Given the description of an element on the screen output the (x, y) to click on. 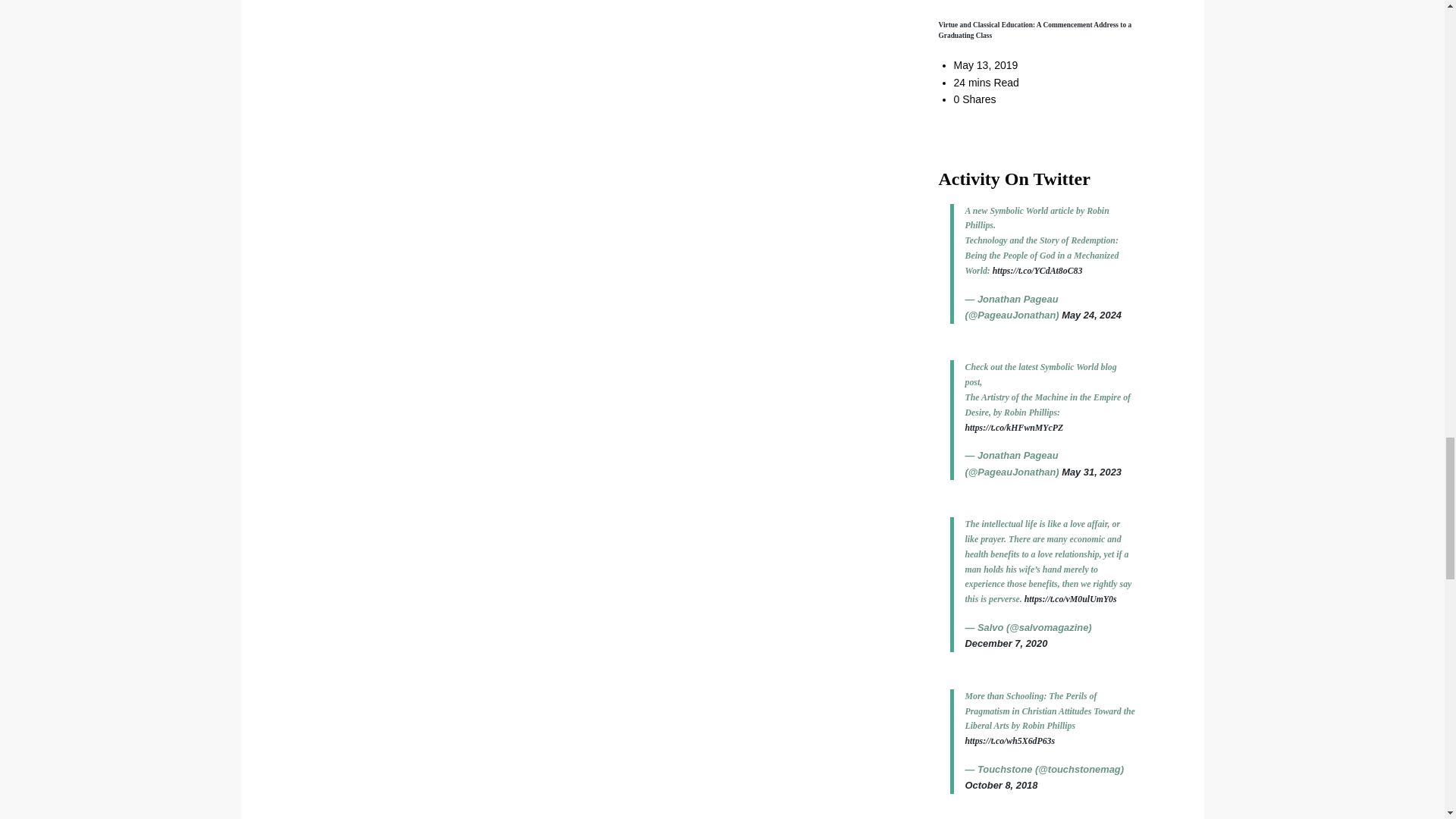
May 31, 2023 (1091, 471)
May 24, 2024 (1091, 315)
